Given the description of an element on the screen output the (x, y) to click on. 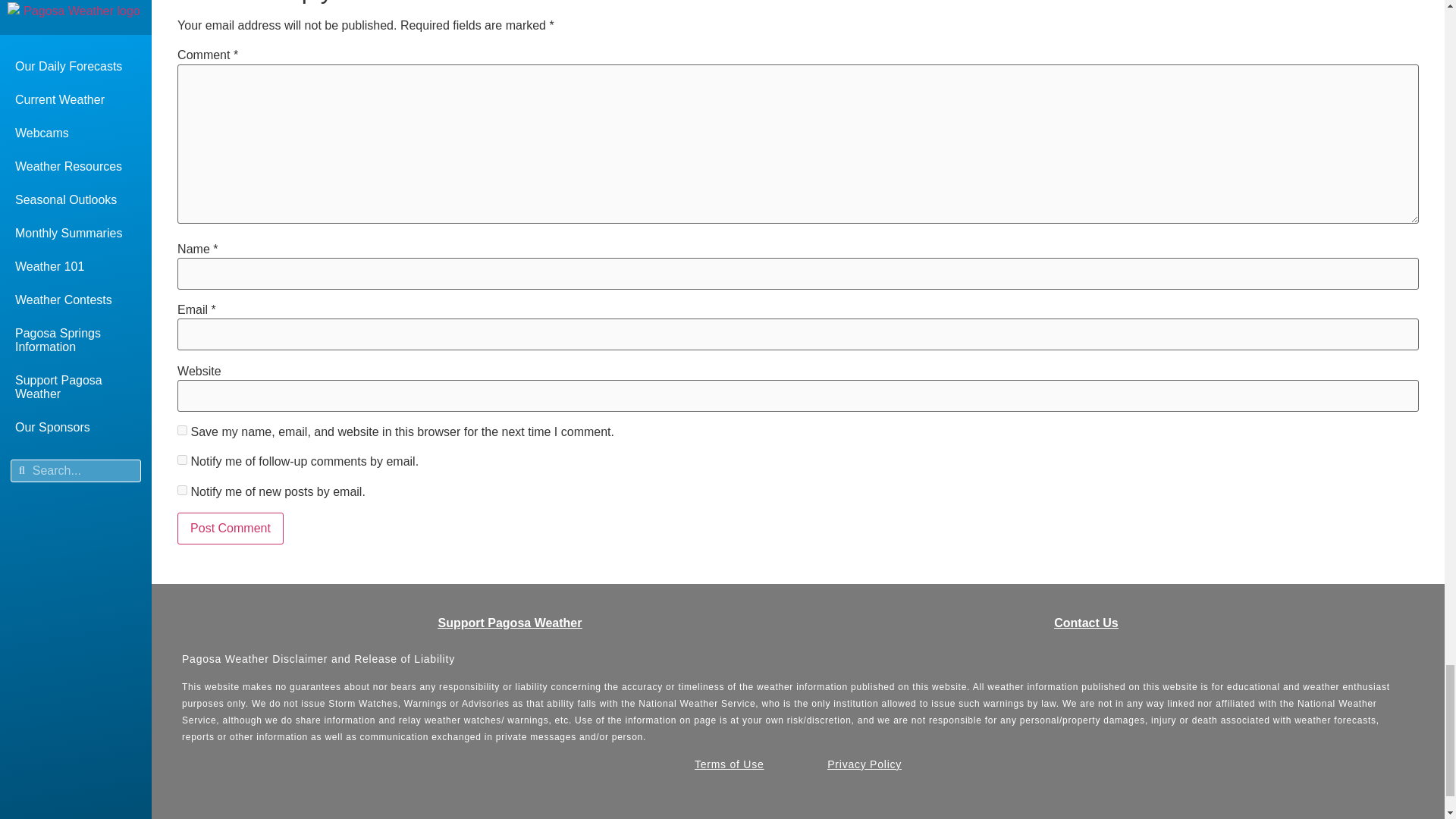
subscribe (182, 490)
yes (182, 429)
Post Comment (230, 528)
subscribe (182, 460)
